Given the description of an element on the screen output the (x, y) to click on. 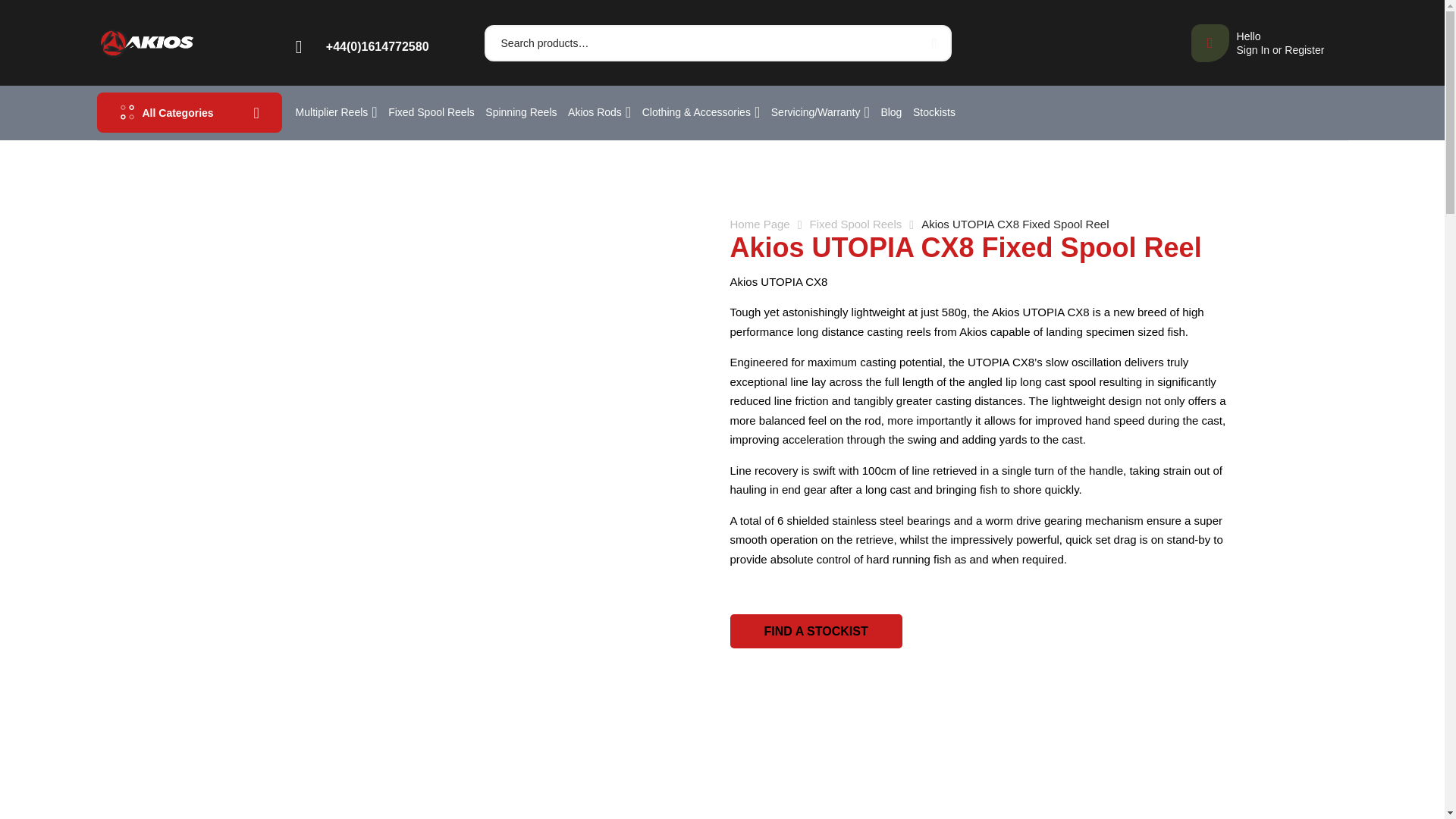
Search (1257, 43)
Multiplier Reels (931, 43)
